Given the description of an element on the screen output the (x, y) to click on. 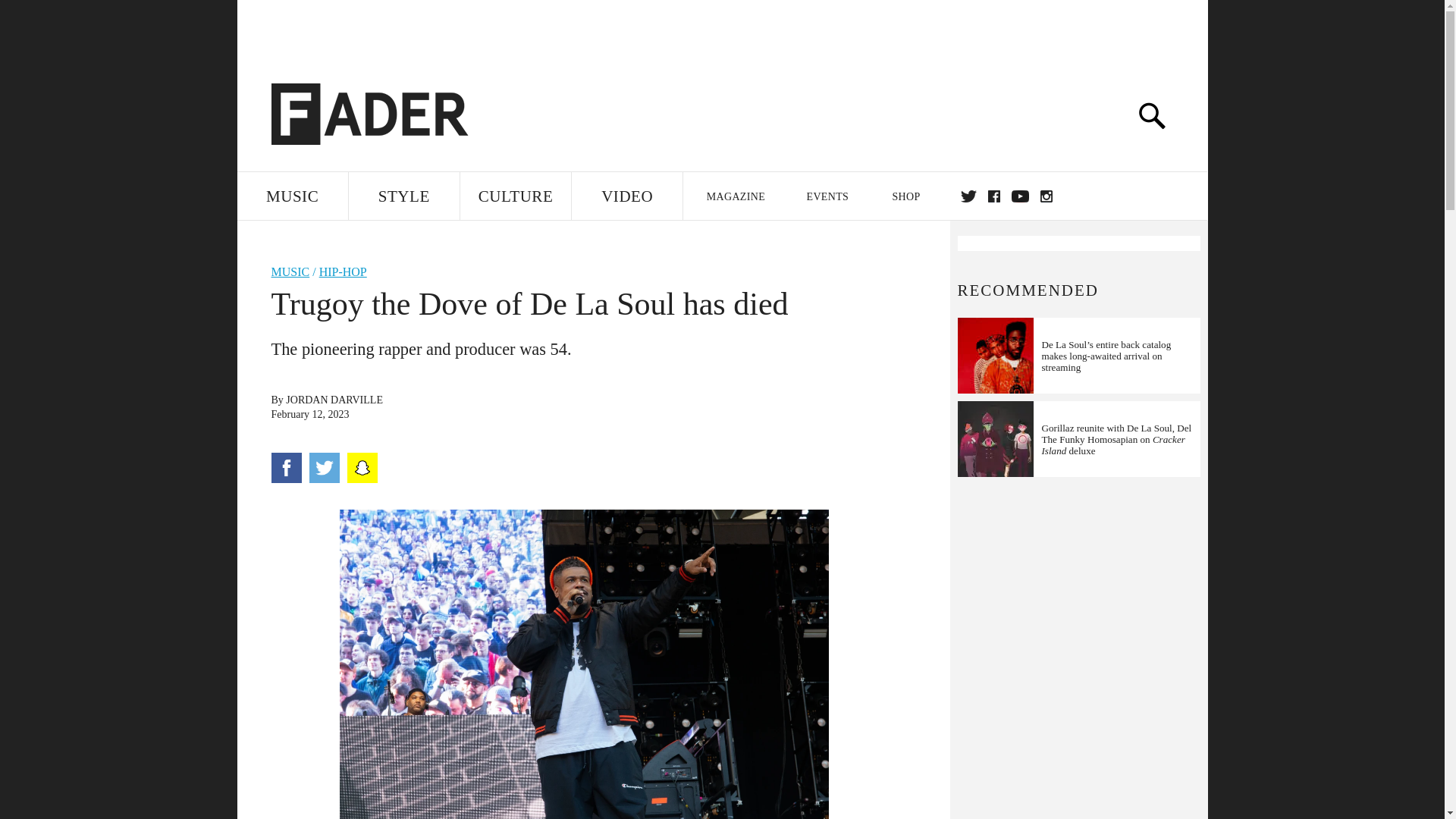
MUSIC (291, 196)
SHOP (905, 196)
MAGAZINE (734, 196)
STYLE (404, 196)
VIDEO (627, 196)
CULTURE (515, 196)
EVENTS (828, 196)
